Given the description of an element on the screen output the (x, y) to click on. 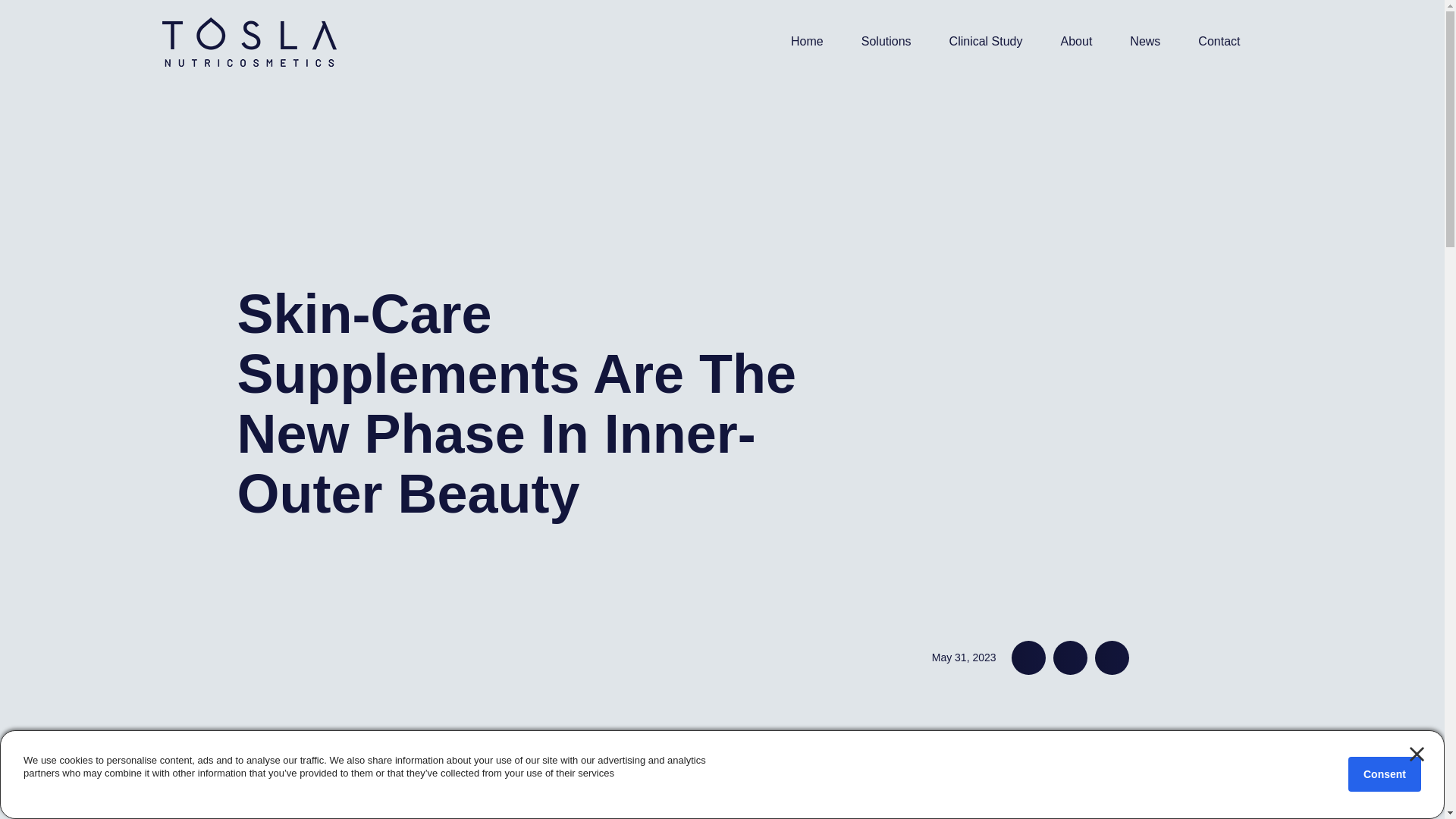
Home (807, 41)
Clinical Study (986, 41)
Solutions (886, 41)
